Given the description of an element on the screen output the (x, y) to click on. 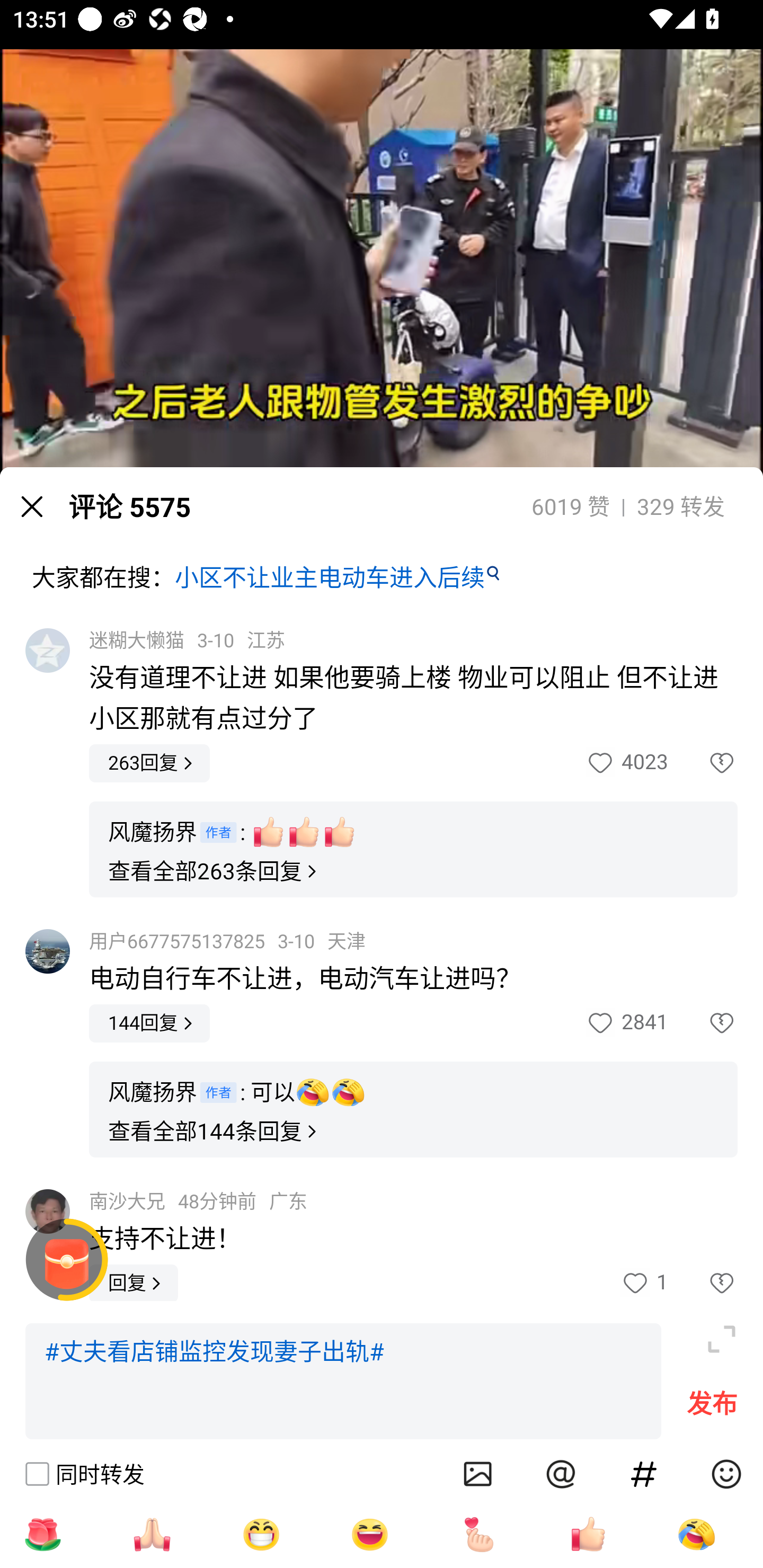
#丈夫看店铺监控发现妻子出轨#  (343, 1381)
全屏编辑 (721, 1338)
发布 (711, 1407)
同时转发 (83, 1473)
相册 (478, 1473)
at (560, 1473)
话题 (643, 1473)
表情 (726, 1473)
[玫瑰] (42, 1534)
[祈祷] (152, 1534)
[呲牙] (261, 1534)
[大笑] (369, 1534)
[比心] (478, 1534)
[赞] (588, 1534)
[捂脸] (696, 1534)
